Given the description of an element on the screen output the (x, y) to click on. 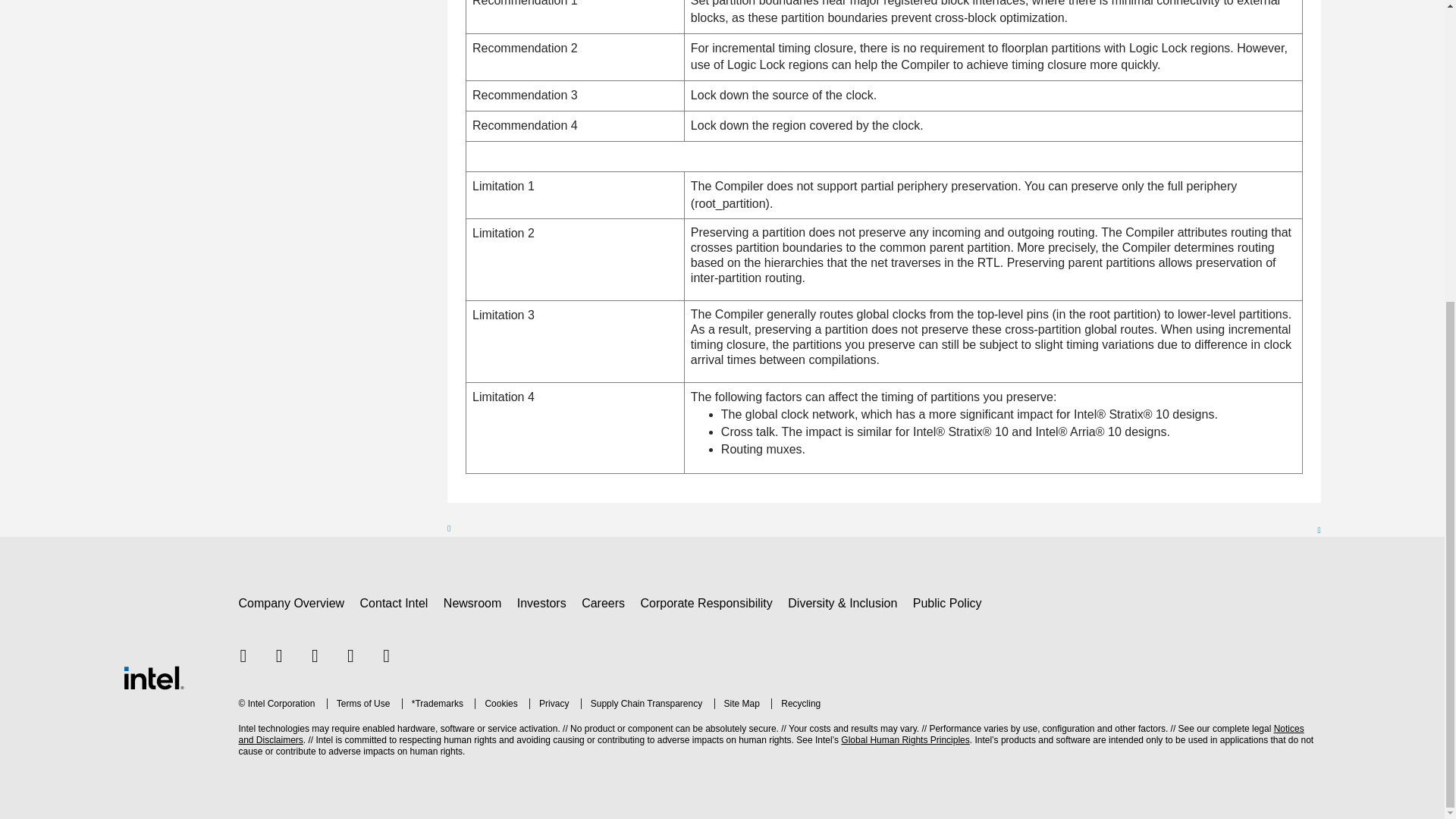
Intel Footer Logo (152, 676)
